Given the description of an element on the screen output the (x, y) to click on. 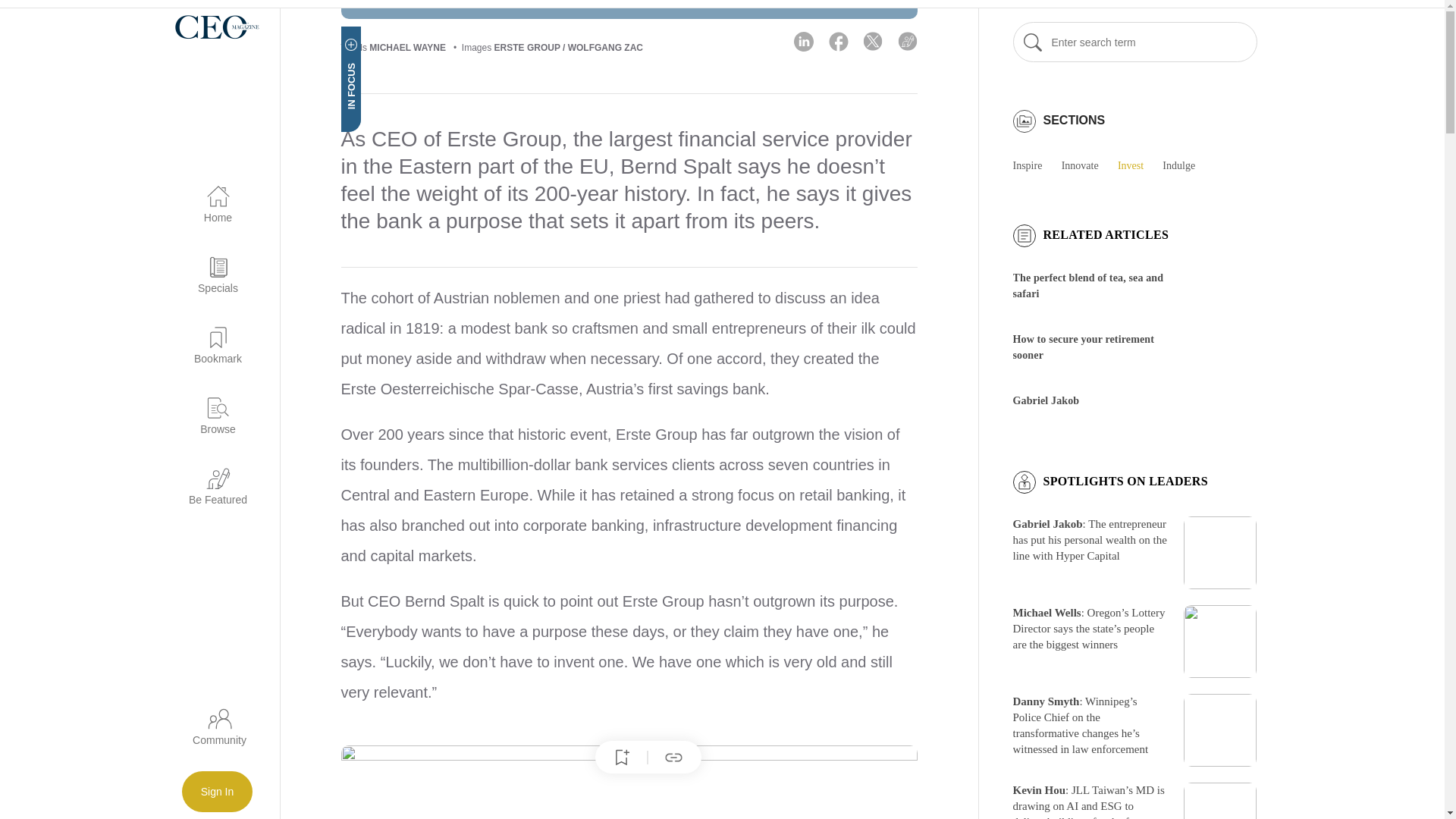
Specials (209, 266)
Innovate (1088, 165)
Indulge (1186, 165)
Gabriel Jakob (1046, 400)
Home (209, 195)
Bookmark (209, 336)
The perfect blend of tea, sea and safari (1088, 285)
Browse (209, 406)
Community (218, 730)
